Given the description of an element on the screen output the (x, y) to click on. 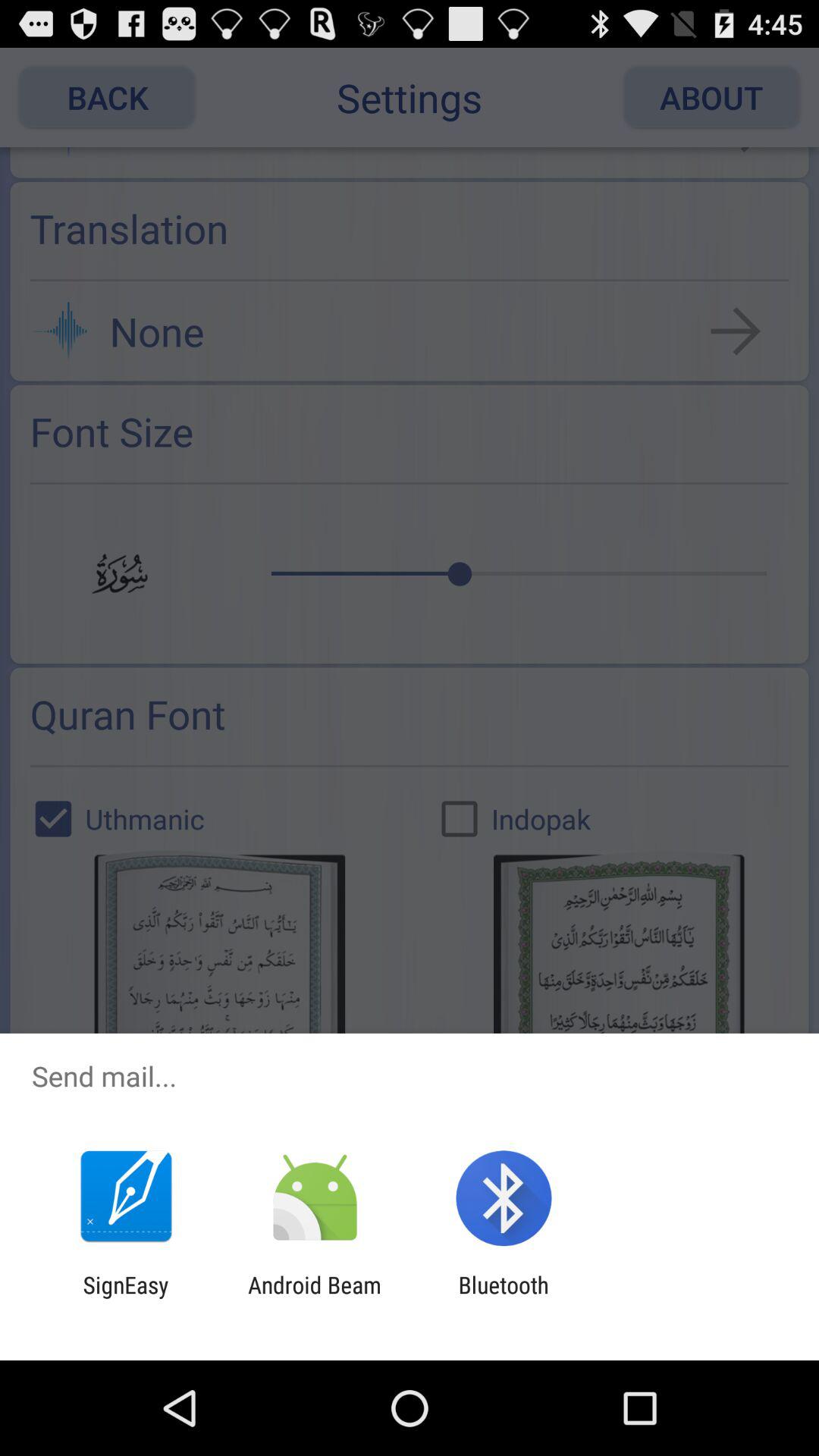
swipe until the bluetooth (503, 1298)
